Given the description of an element on the screen output the (x, y) to click on. 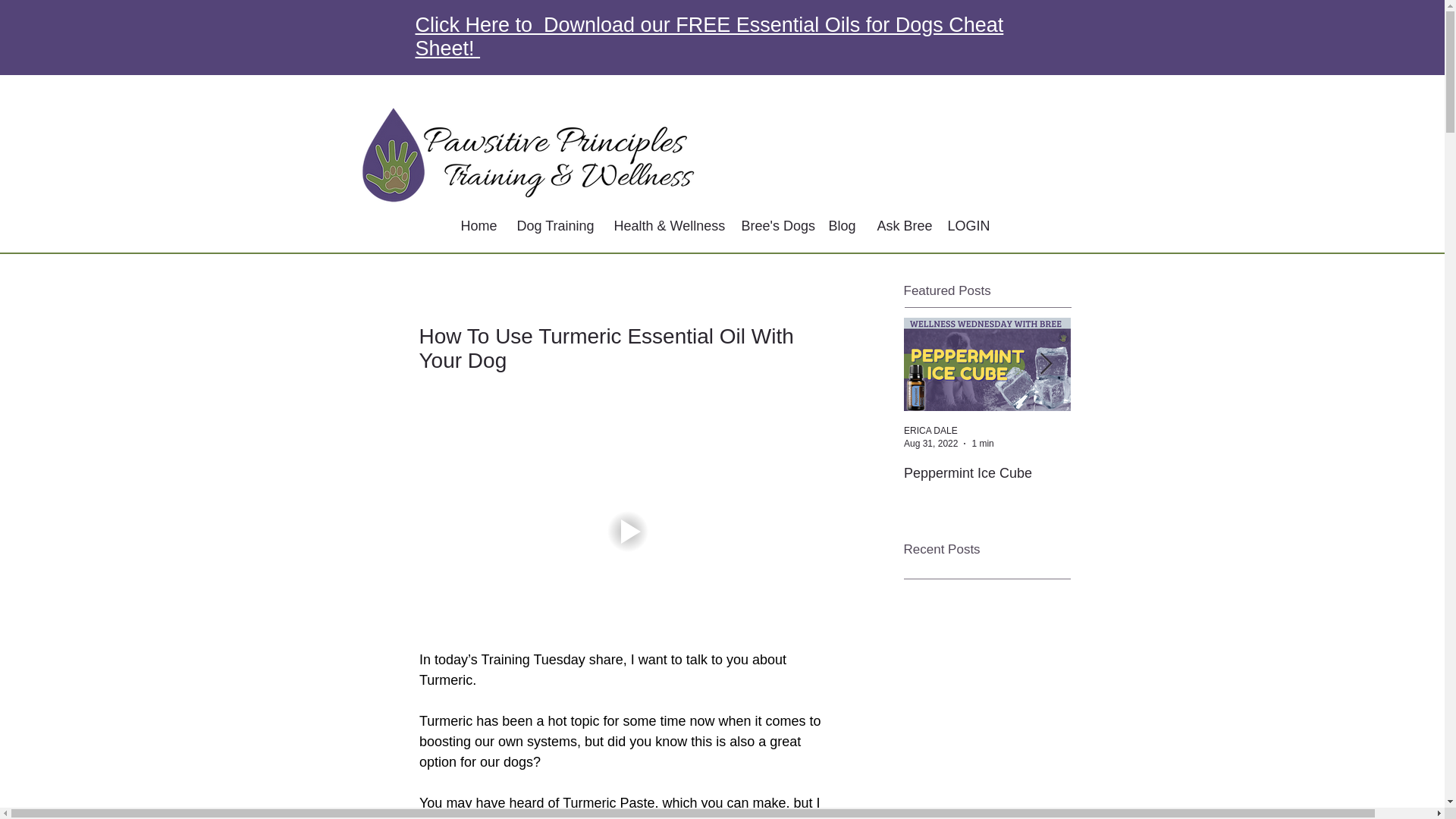
LOGIN (965, 226)
Aug 17, 2022 (1097, 442)
1 min (1149, 442)
Home (476, 226)
Let's talk about EO travel tips (1153, 481)
Aug 31, 2022 (931, 442)
Ask Bree (901, 226)
ERICA DALE (1097, 430)
ERICA DALE (931, 430)
